Given the description of an element on the screen output the (x, y) to click on. 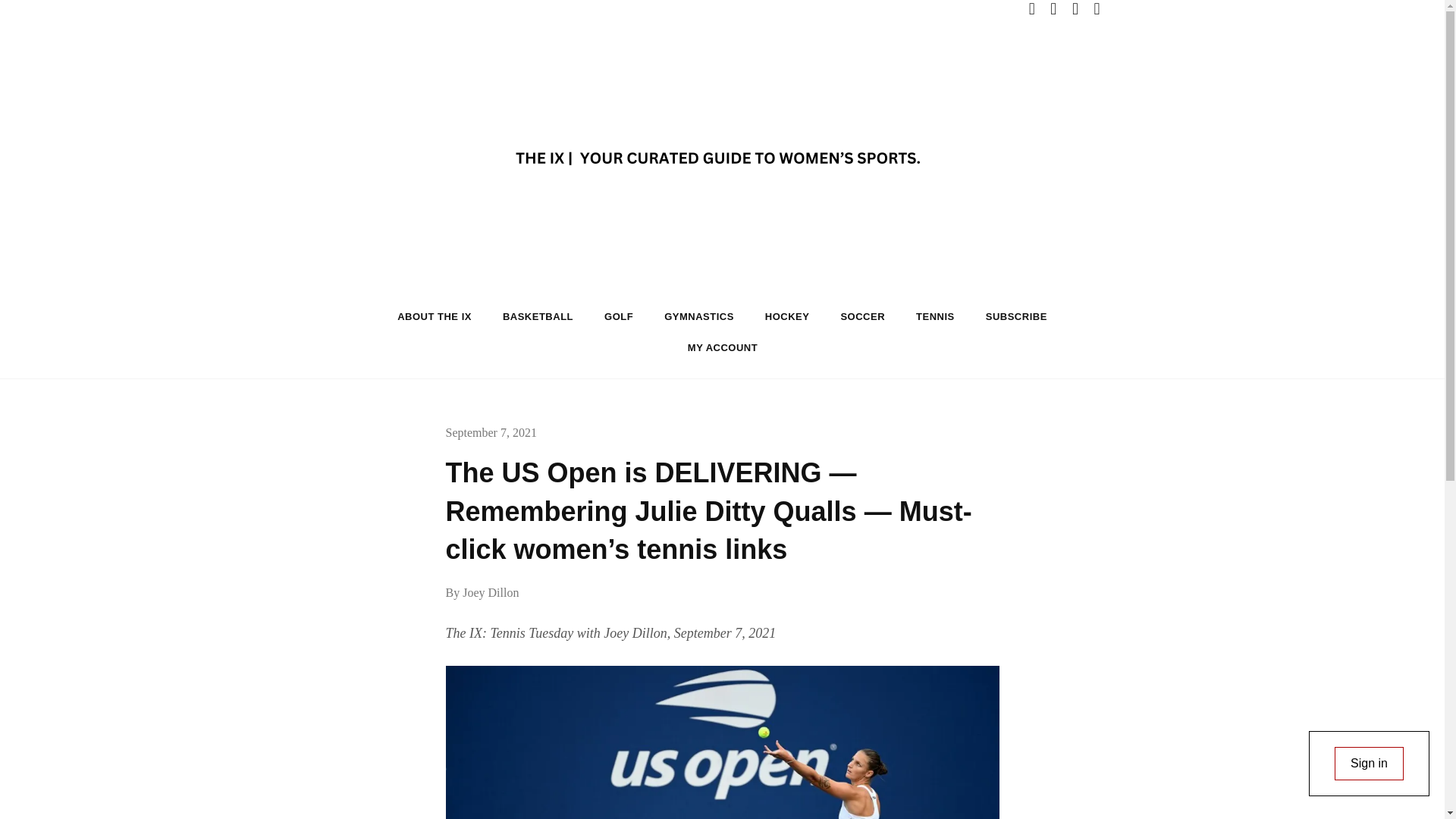
TENNIS (935, 316)
ABOUT THE IX (433, 316)
GOLF (618, 316)
BASKETBALL (537, 316)
HOCKEY (787, 316)
SOCCER (862, 316)
MY ACCOUNT (722, 347)
E-sO2fUX0AEk2Z0 (721, 742)
SUBSCRIBE (1016, 316)
GYMNASTICS (699, 316)
